Given the description of an element on the screen output the (x, y) to click on. 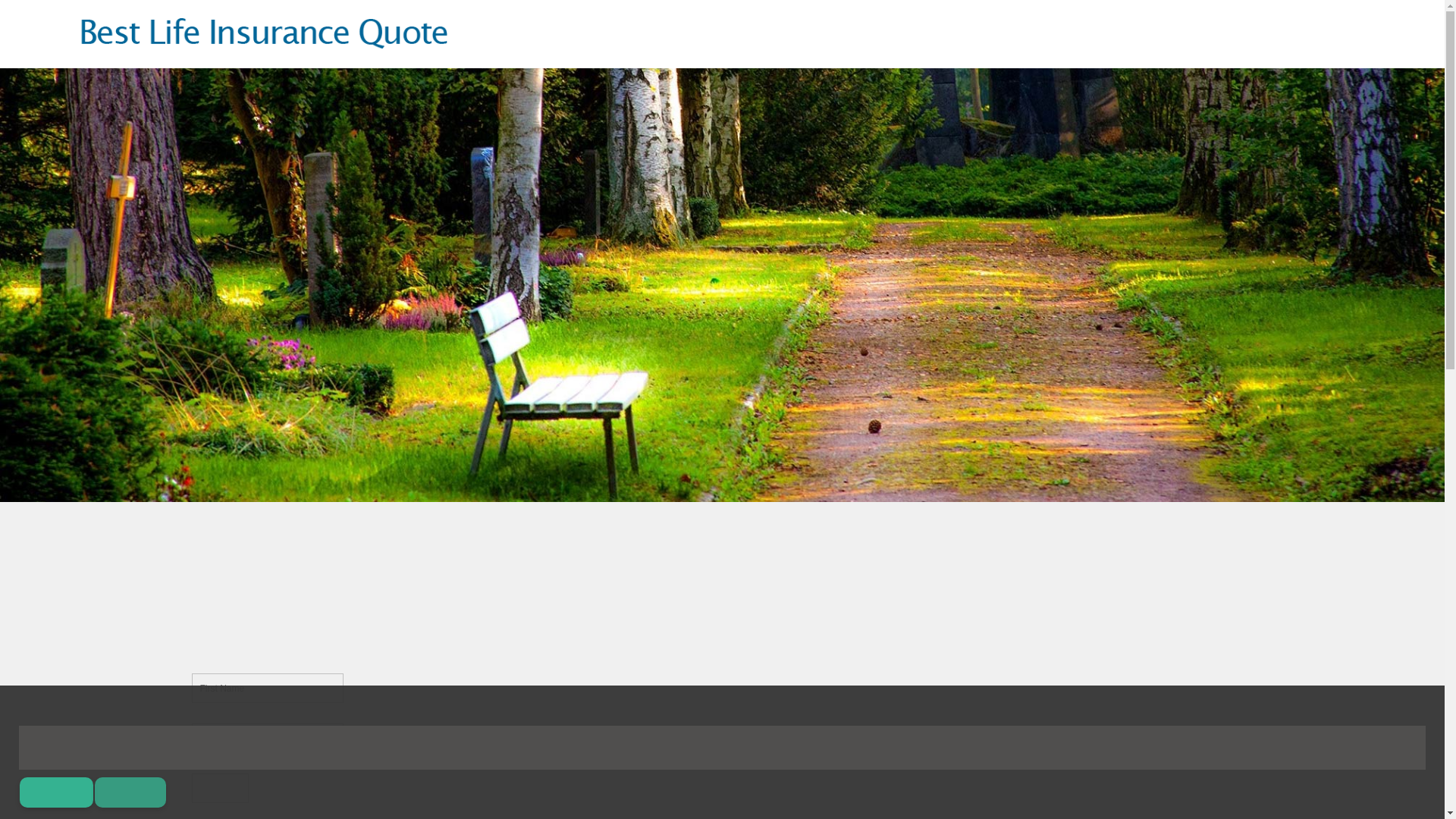
QUOTES Element type: text (1189, 36)
CONTACT US Element type: text (1331, 36)
Go to site home page Element type: hover (265, 33)
ABOUT US Element type: text (1256, 36)
HOME Element type: text (1132, 36)
